Given the description of an element on the screen output the (x, y) to click on. 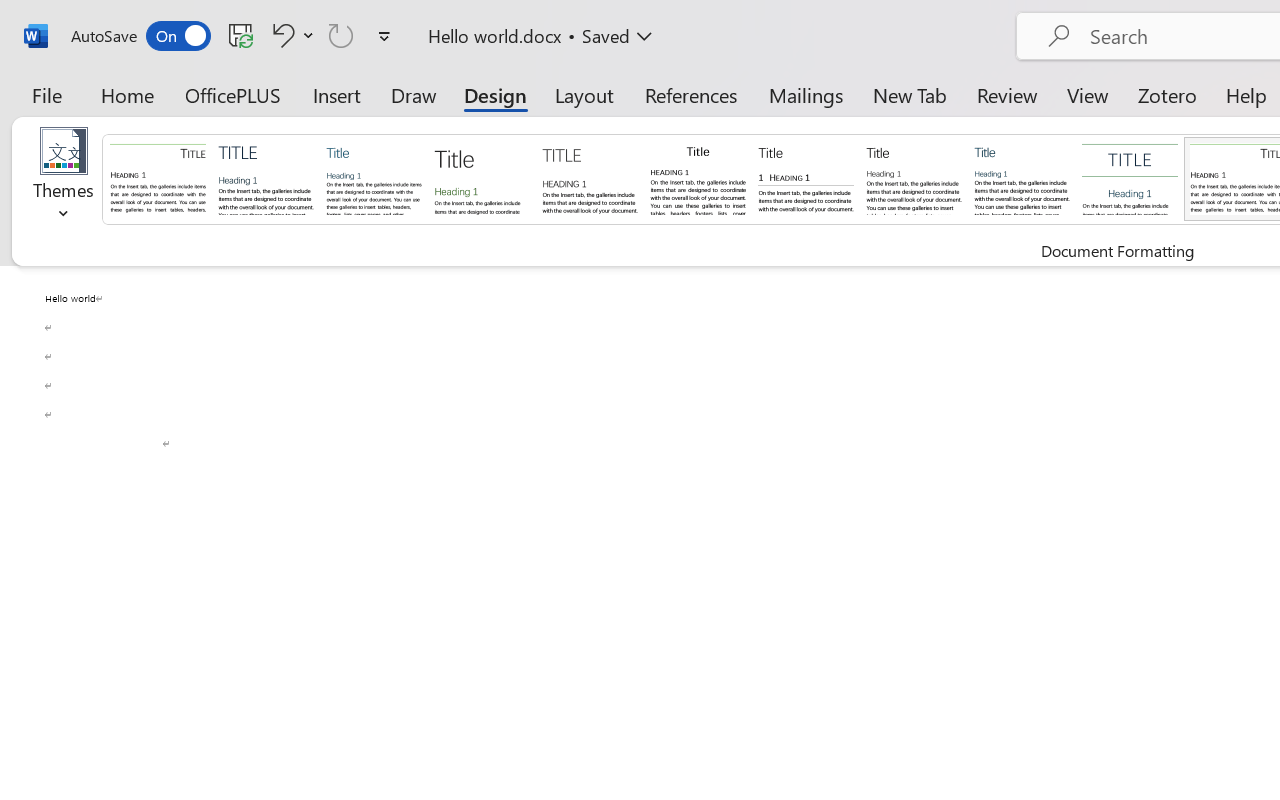
Insert (337, 94)
Black & White (Classic) (697, 178)
Can't Repeat (341, 35)
OfficePLUS (233, 94)
Layout (584, 94)
